Given the description of an element on the screen output the (x, y) to click on. 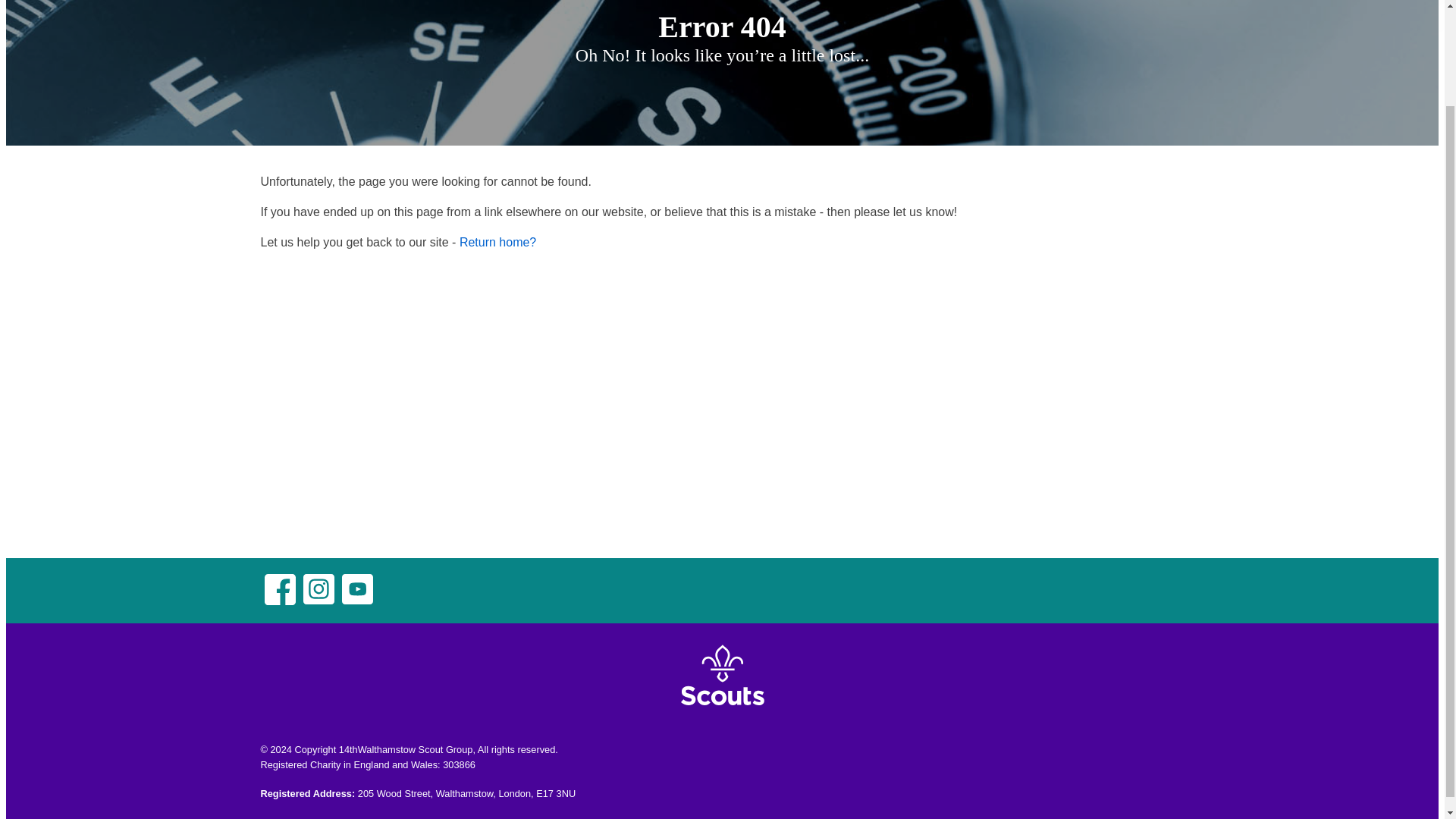
303866 (459, 764)
Return home? (497, 241)
